Given the description of an element on the screen output the (x, y) to click on. 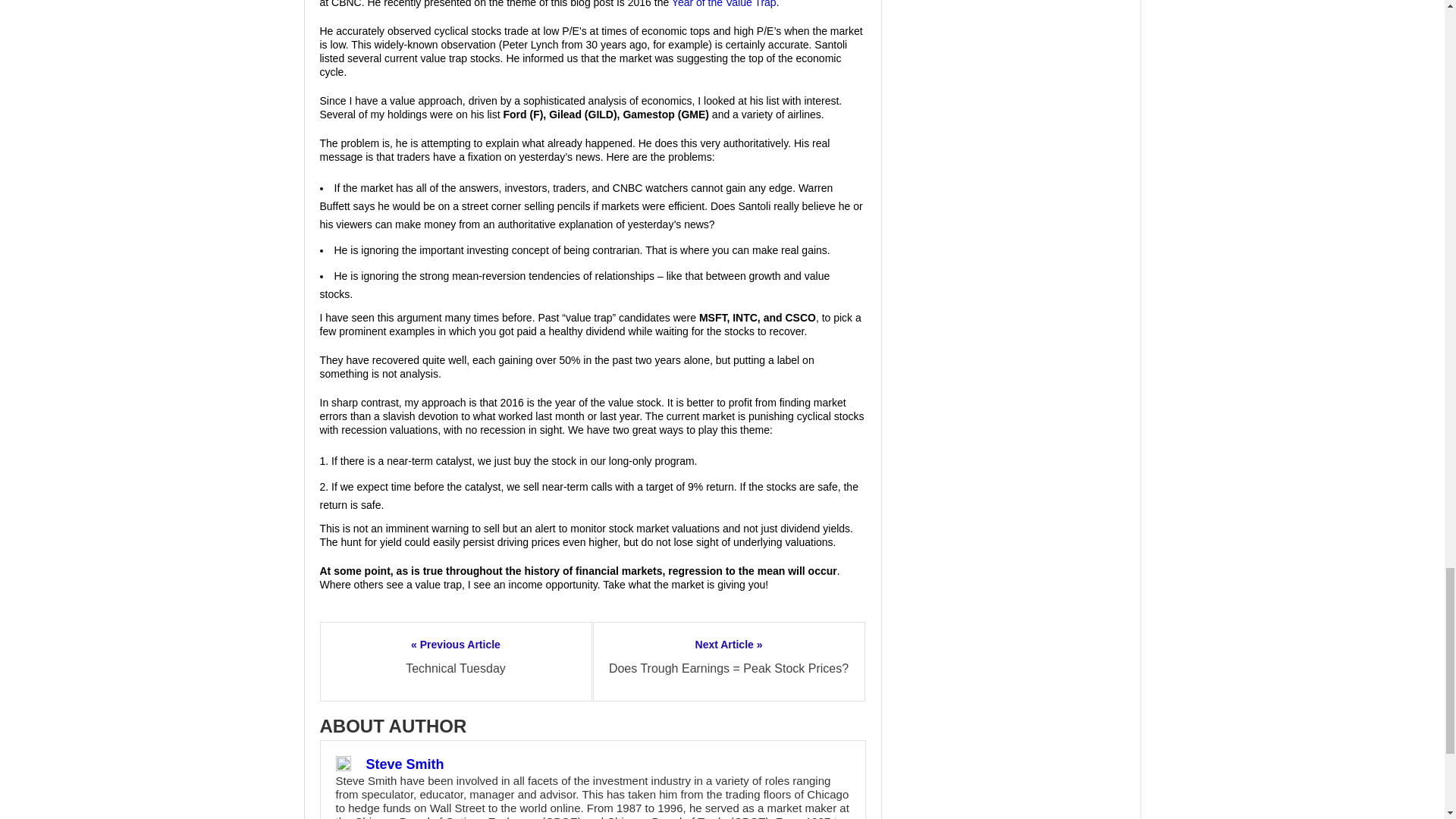
Steve Smith (404, 764)
Year of the Value Trap (723, 4)
Technical Tuesday (454, 668)
